Given the description of an element on the screen output the (x, y) to click on. 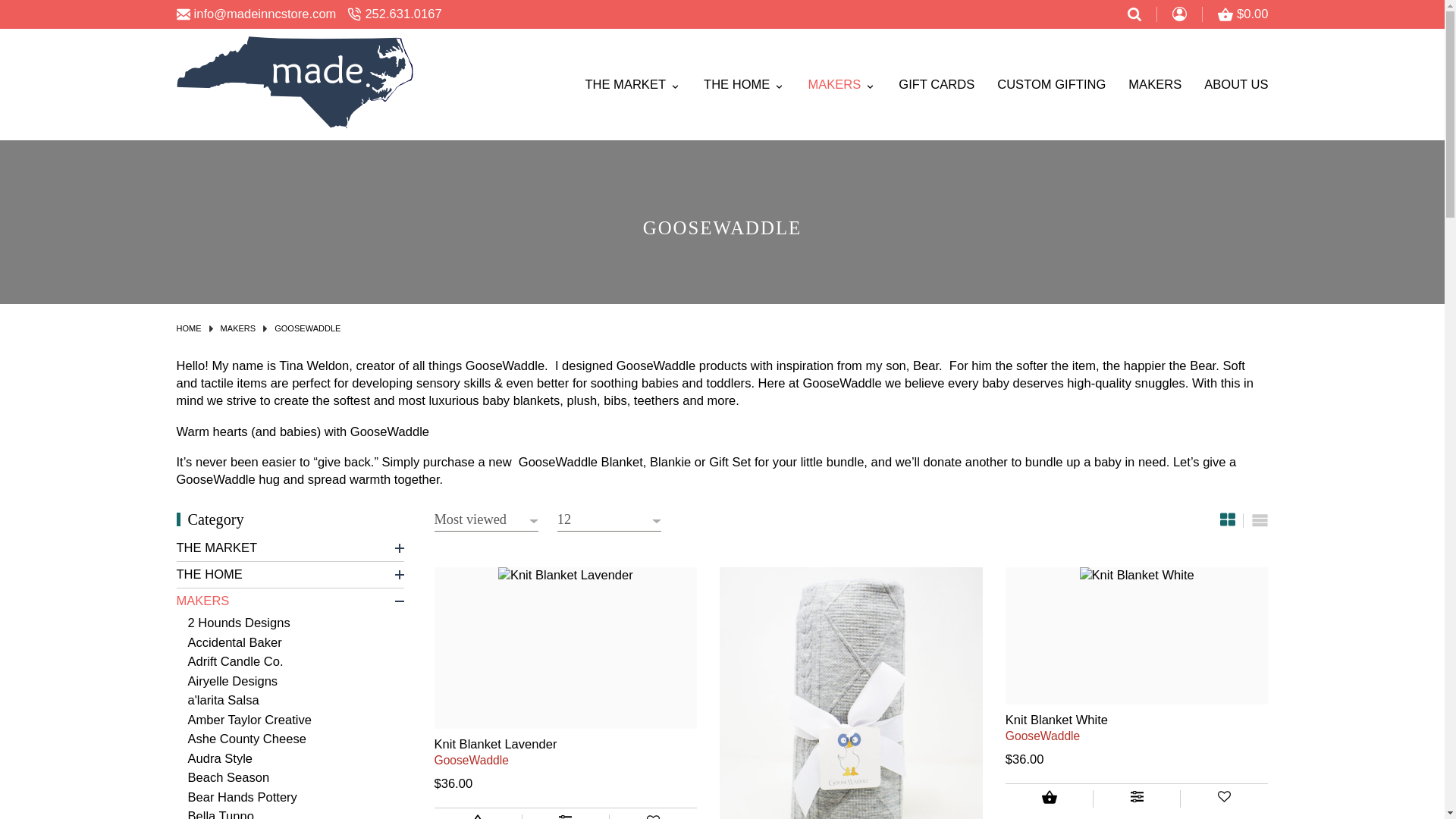
Compare (565, 816)
THE MARKET (621, 84)
Add to Cart (477, 816)
252.631.0167 (394, 13)
Add to Wishlist (1224, 798)
Search (1133, 14)
Add to Wishlist (653, 816)
Add to Cart (1049, 799)
Compare (1136, 798)
Cart (1242, 13)
